Given the description of an element on the screen output the (x, y) to click on. 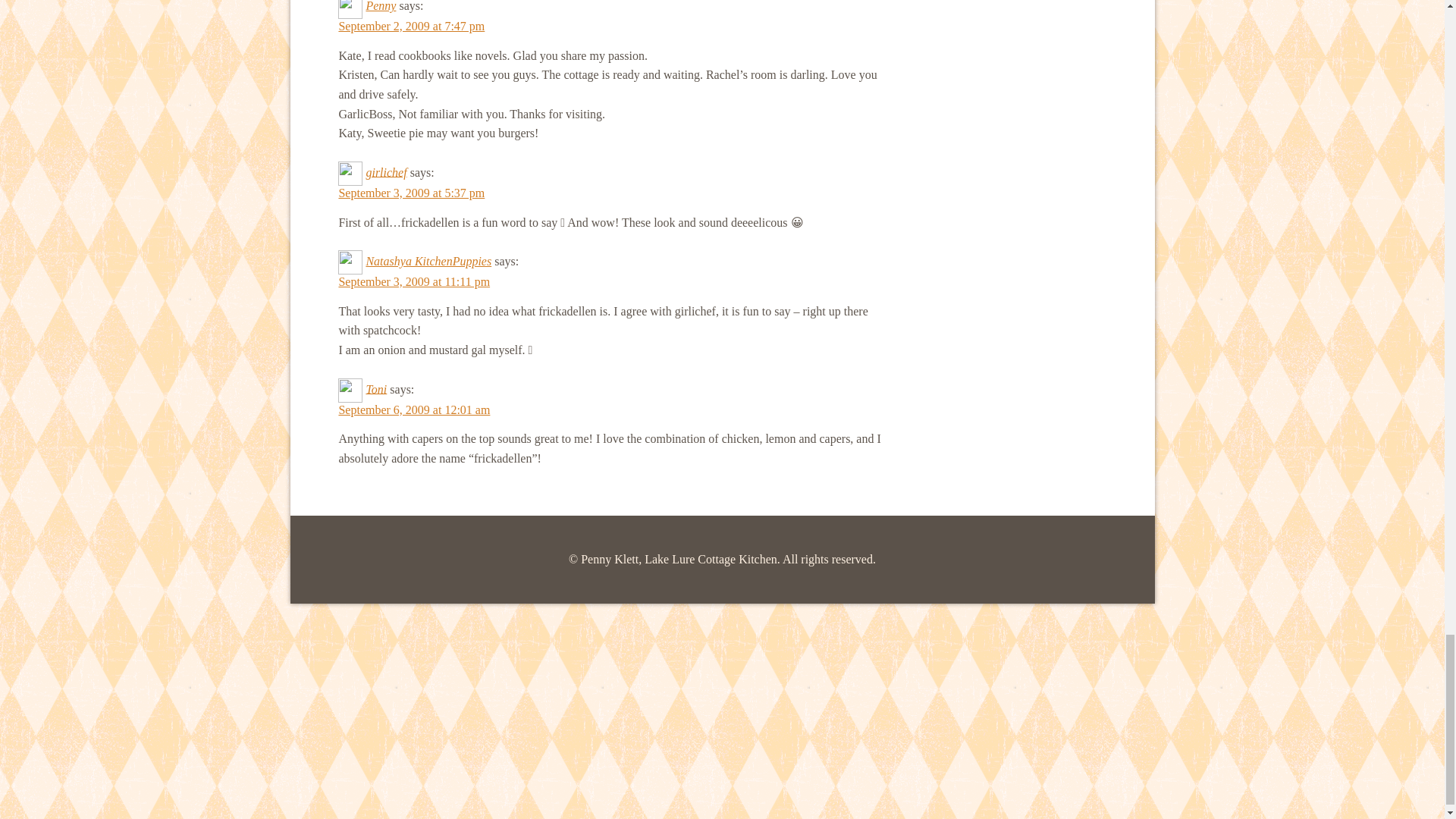
Penny (380, 6)
girlichef (385, 171)
September 2, 2009 at 7:47 pm (410, 25)
September 3, 2009 at 5:37 pm (410, 192)
